Given the description of an element on the screen output the (x, y) to click on. 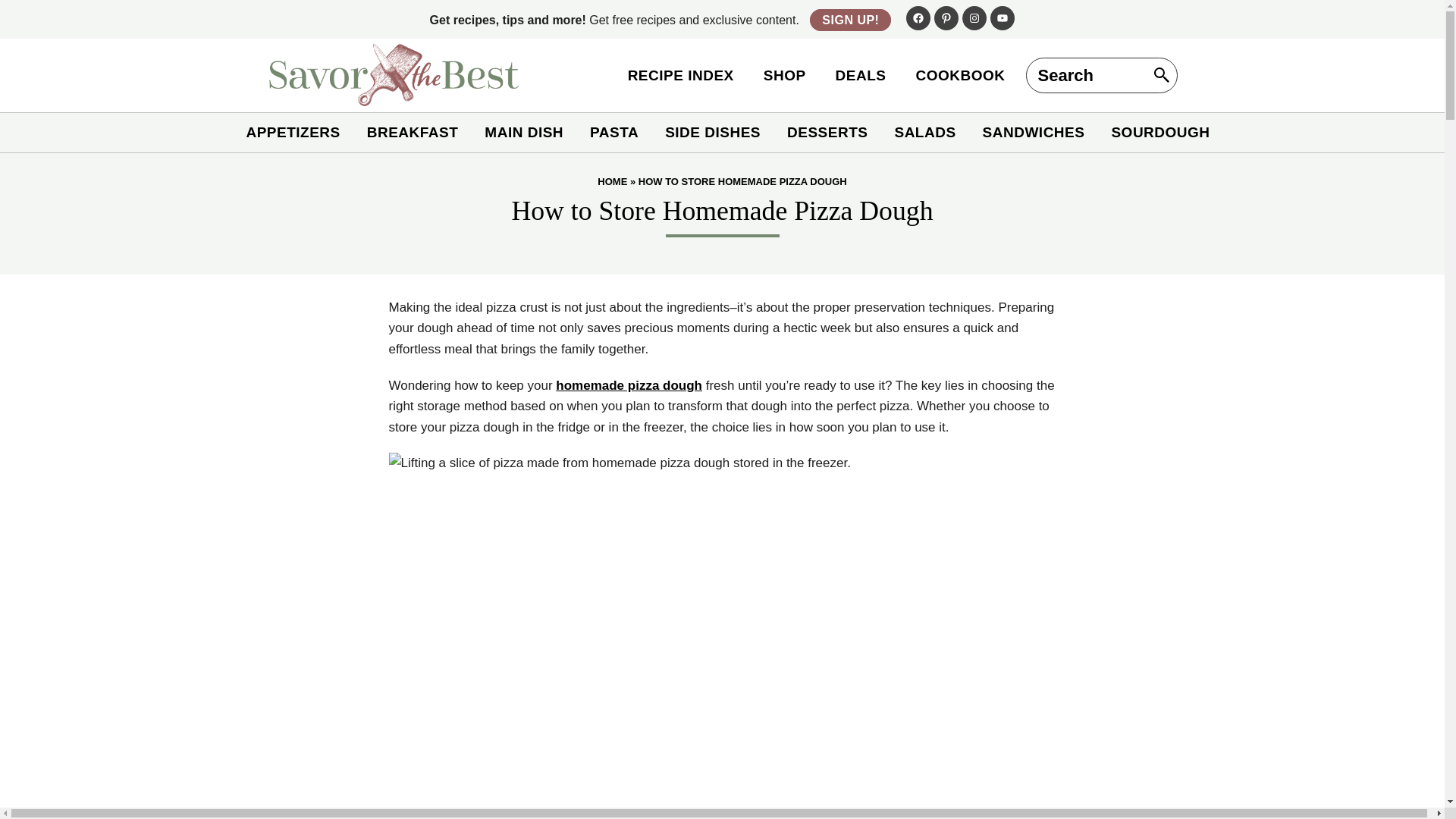
COOKBOOK (960, 75)
Search for: (1100, 75)
APPETIZERS (292, 132)
Pinterest (946, 17)
BREAKFAST (412, 132)
Instagram (974, 17)
DEALS (861, 75)
MAIN DISH (523, 132)
SHOP (784, 75)
Search (40, 17)
